Given the description of an element on the screen output the (x, y) to click on. 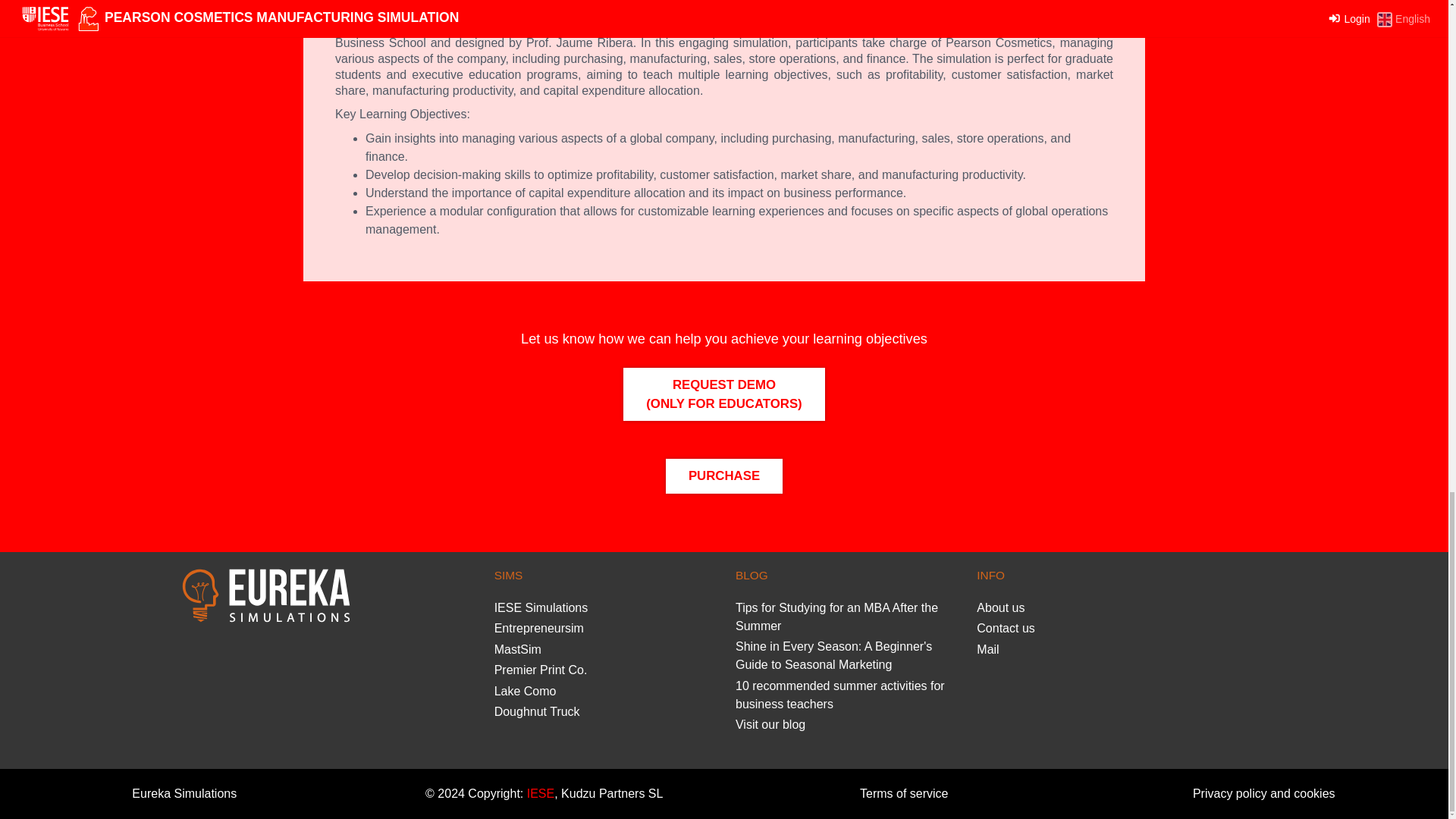
Lake Como (525, 690)
Terms of service (903, 793)
Blog (770, 724)
PURCHASE (724, 475)
Kudzu Partners SL (610, 793)
Premier Print Co. (541, 669)
Privacy policy and cookies (1263, 793)
Doughnut Truck (537, 711)
Mail (987, 649)
Entrepreneursim (539, 627)
